Given the description of an element on the screen output the (x, y) to click on. 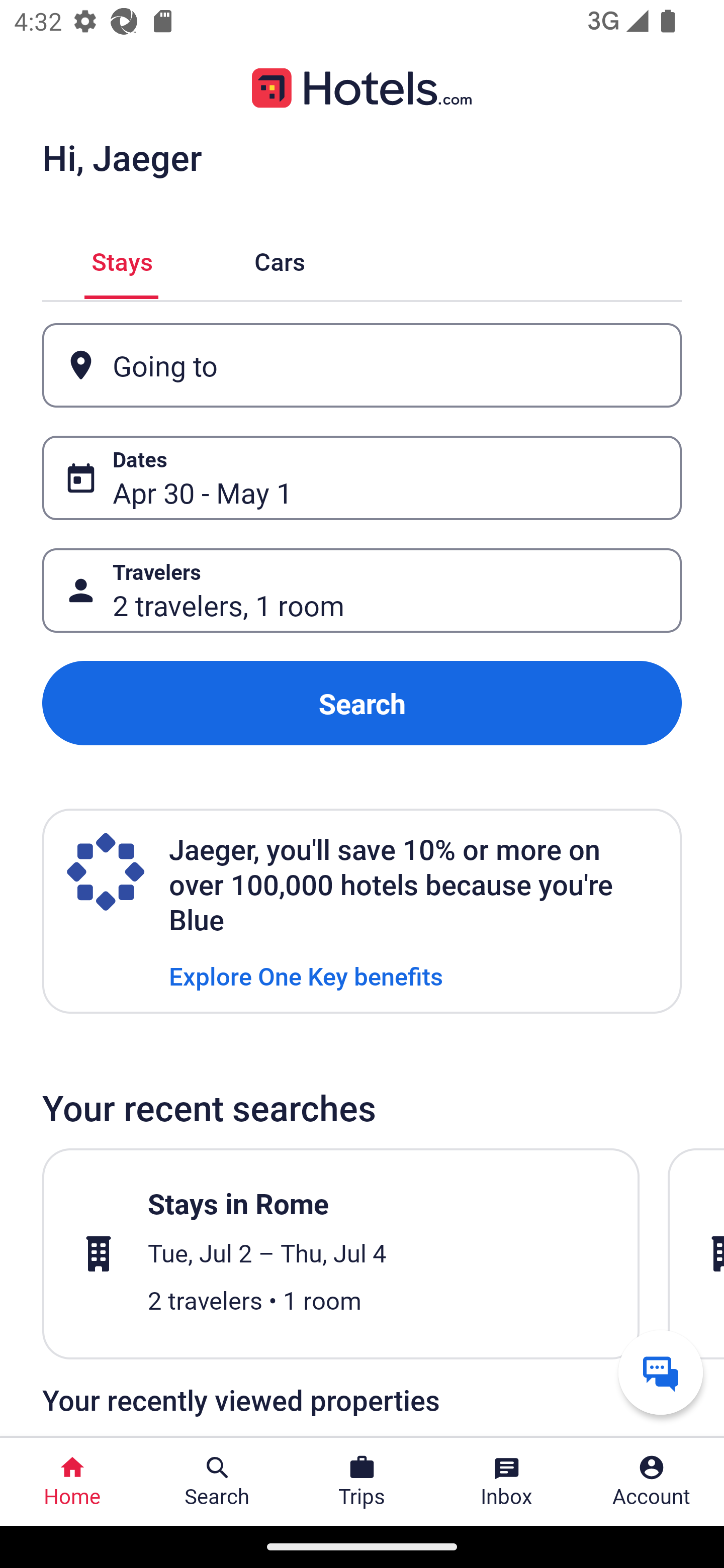
Hi, Jaeger (121, 156)
Cars (279, 259)
Going to Button (361, 365)
Dates Button Apr 30 - May 1 (361, 477)
Travelers Button 2 travelers, 1 room (361, 590)
Search (361, 702)
Get help from a virtual agent (660, 1371)
Search Search Button (216, 1481)
Trips Trips Button (361, 1481)
Inbox Inbox Button (506, 1481)
Account Profile. Button (651, 1481)
